Given the description of an element on the screen output the (x, y) to click on. 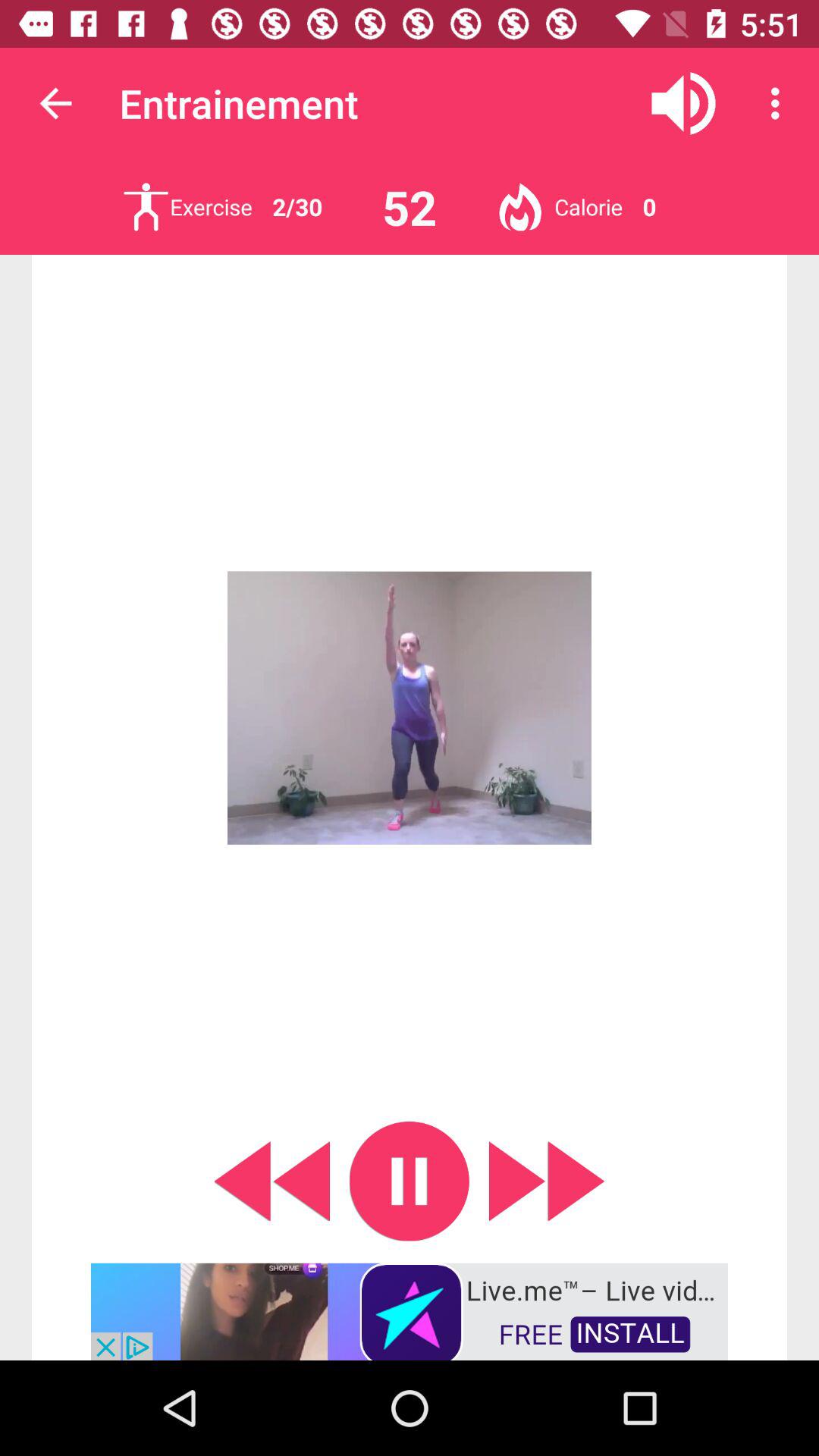
next exercise (546, 1181)
